Given the description of an element on the screen output the (x, y) to click on. 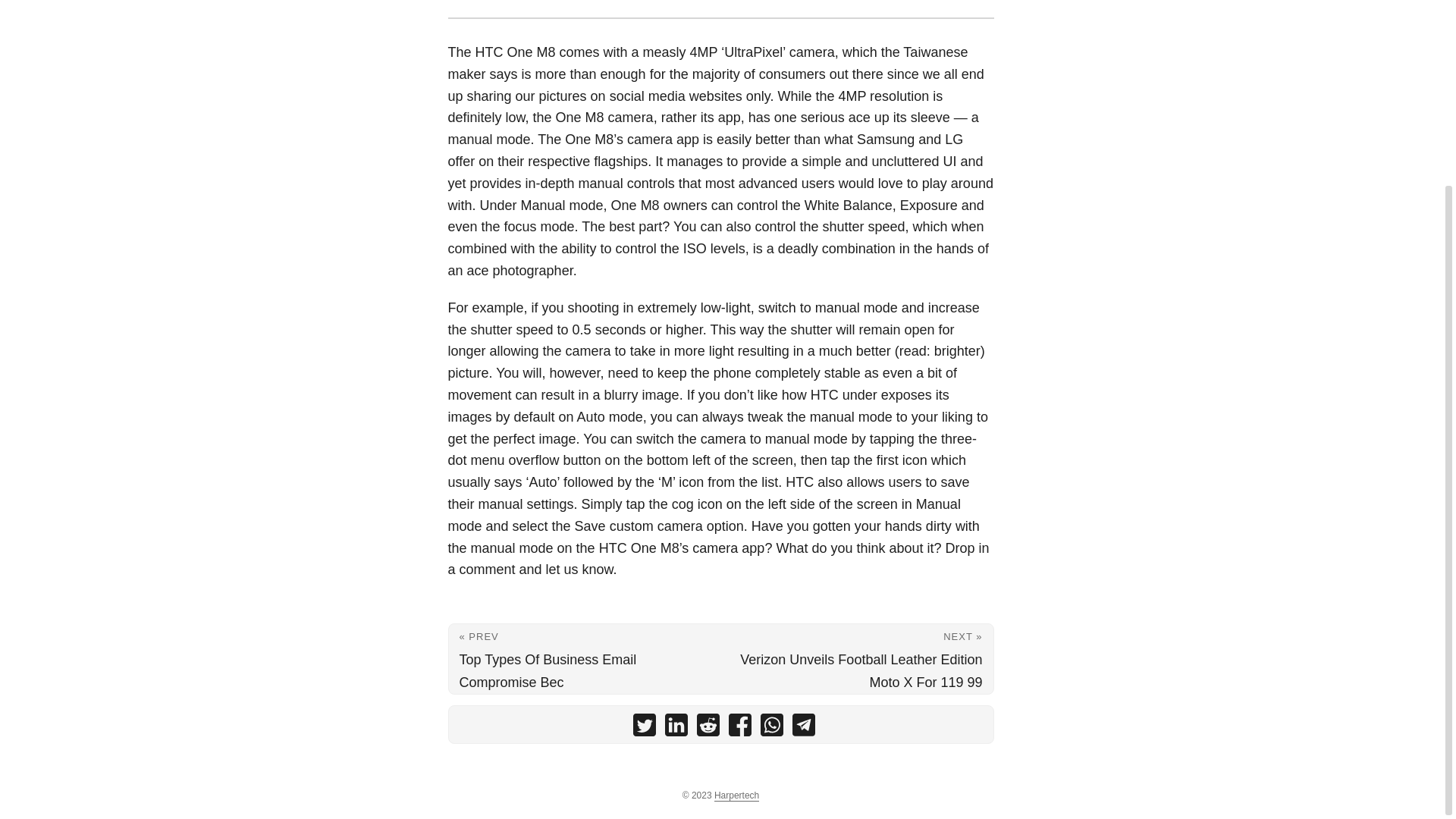
Harpertech (736, 795)
